Given the description of an element on the screen output the (x, y) to click on. 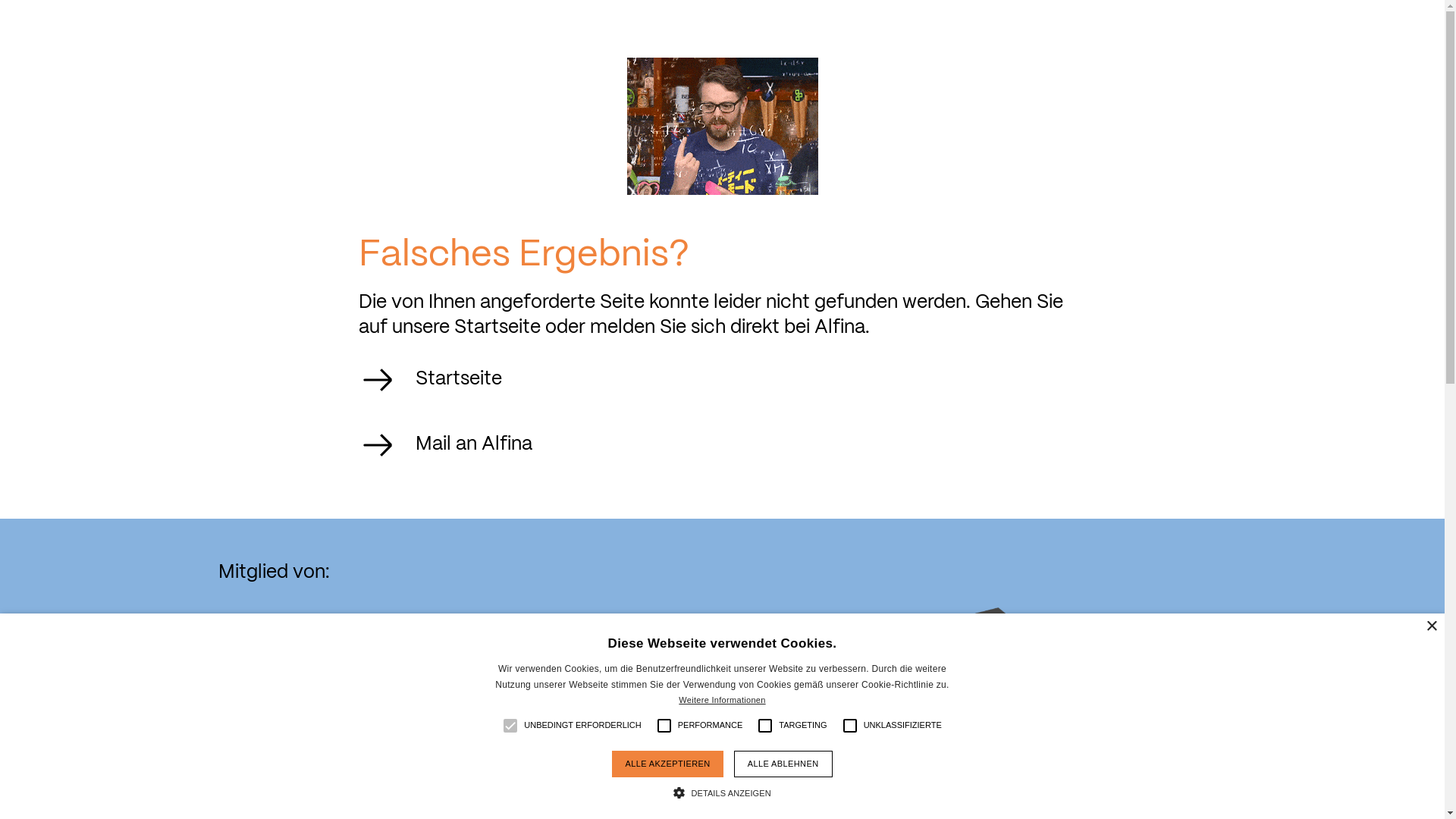
Mail an Alfina Element type: text (467, 444)
Weitere Informationen Element type: text (721, 699)
Startseite Element type: text (452, 379)
